Given the description of an element on the screen output the (x, y) to click on. 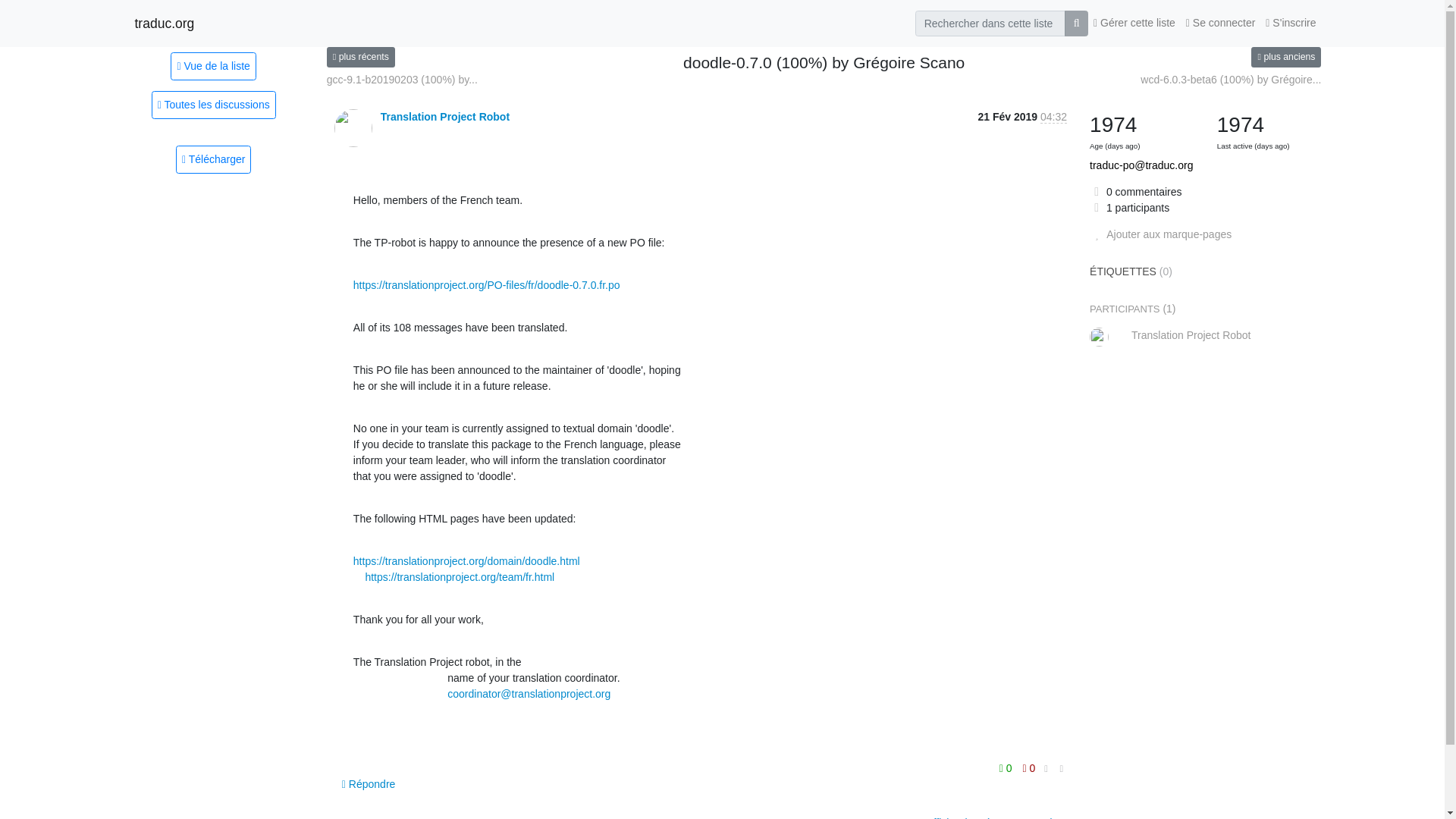
Vue de la liste (213, 65)
Se connecter (1220, 22)
traduc.org (165, 22)
Vous devez vous connecter pour placer des marques. (1160, 234)
plus anciens (1285, 56)
Voir le profil pour Translation Project Robot (444, 116)
Lien permanent pour ce message (1061, 769)
S'inscrire (1290, 22)
Toutes les discussions (213, 104)
